Given the description of an element on the screen output the (x, y) to click on. 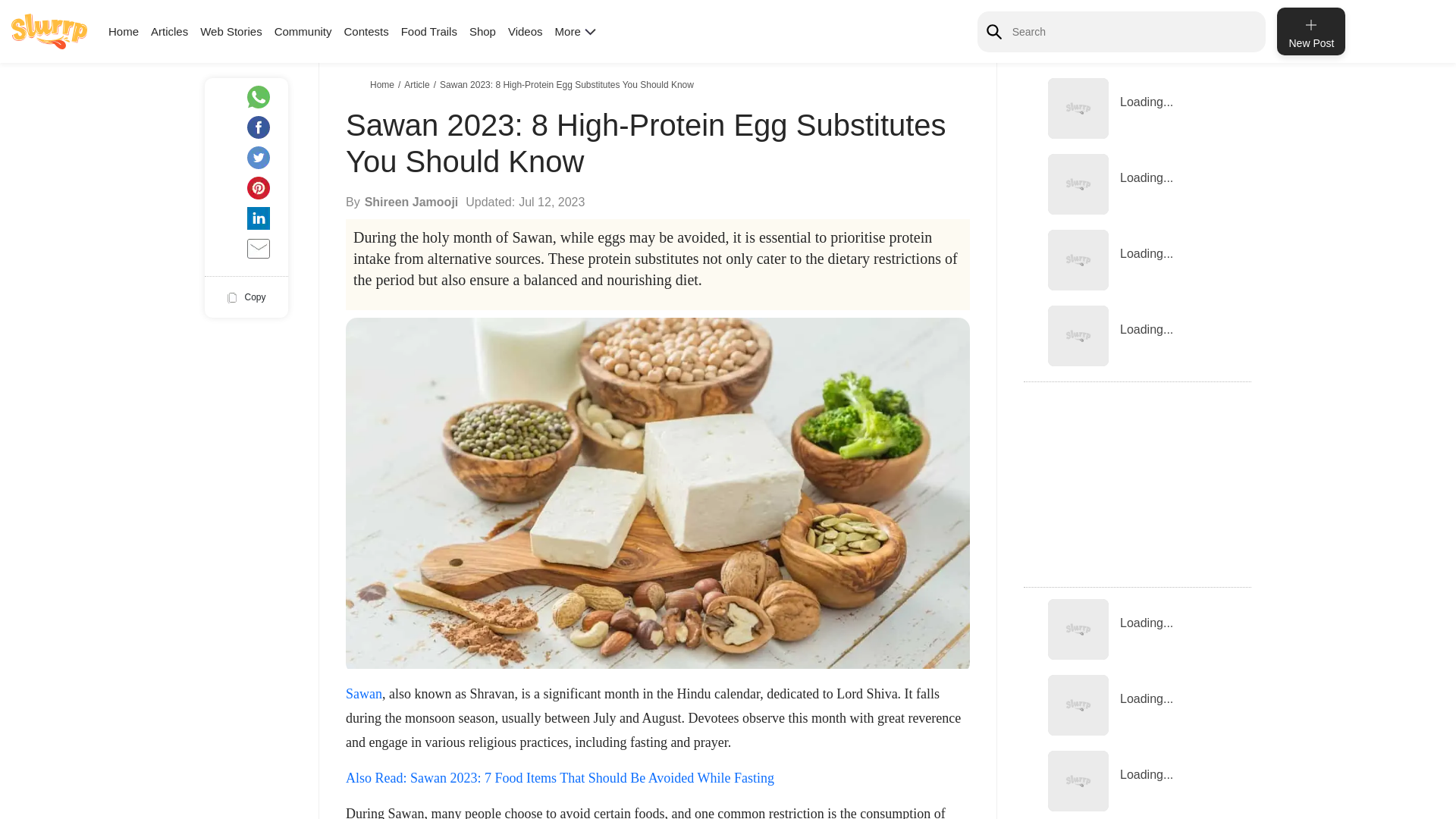
Home (122, 31)
Article (418, 84)
New Post (1310, 31)
Home (383, 84)
Food Trails (429, 31)
Contests (365, 31)
Shop (482, 31)
Videos (525, 31)
Articles (169, 31)
Web Stories (231, 31)
